Given the description of an element on the screen output the (x, y) to click on. 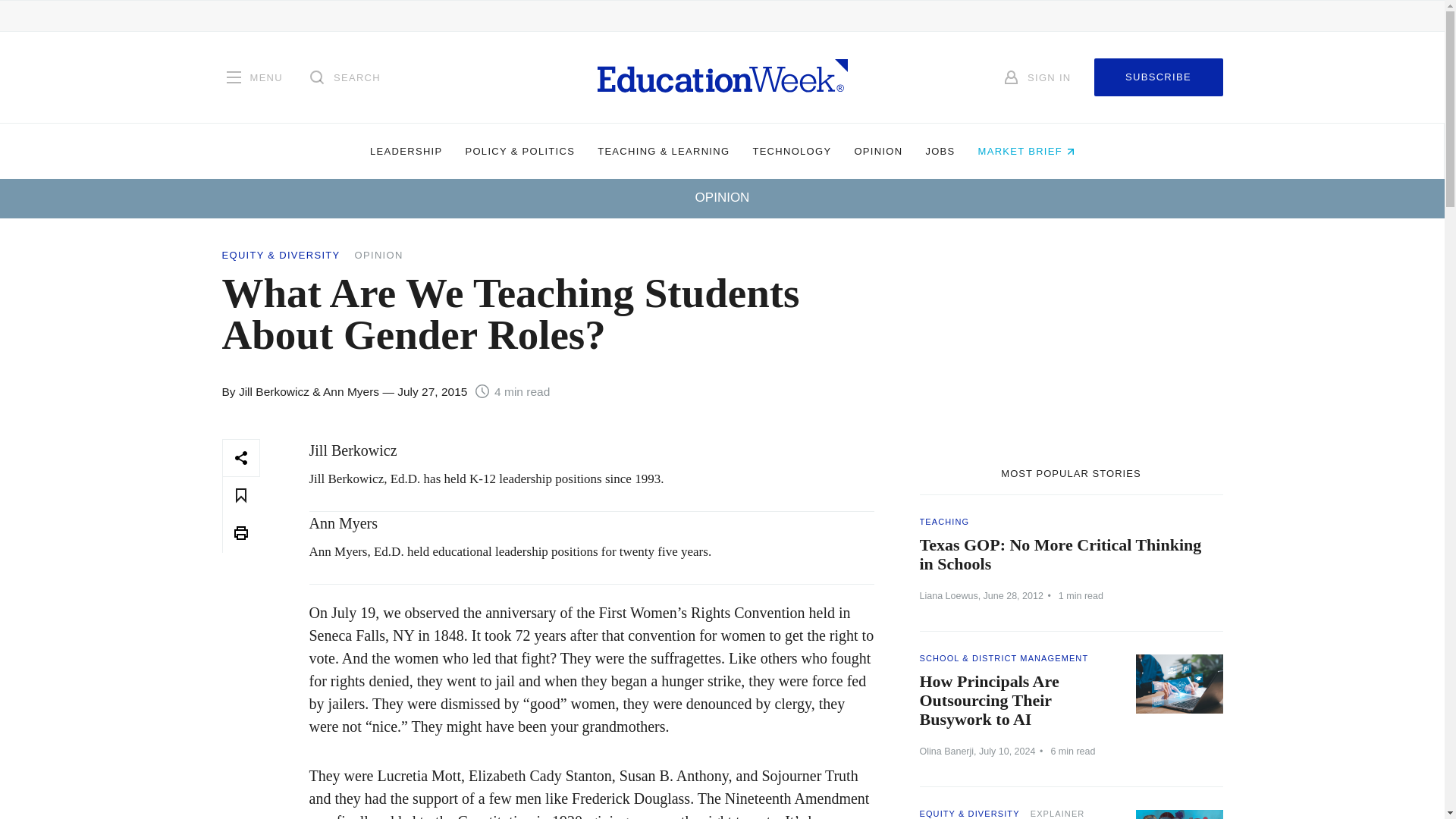
Homepage (721, 76)
